Given the description of an element on the screen output the (x, y) to click on. 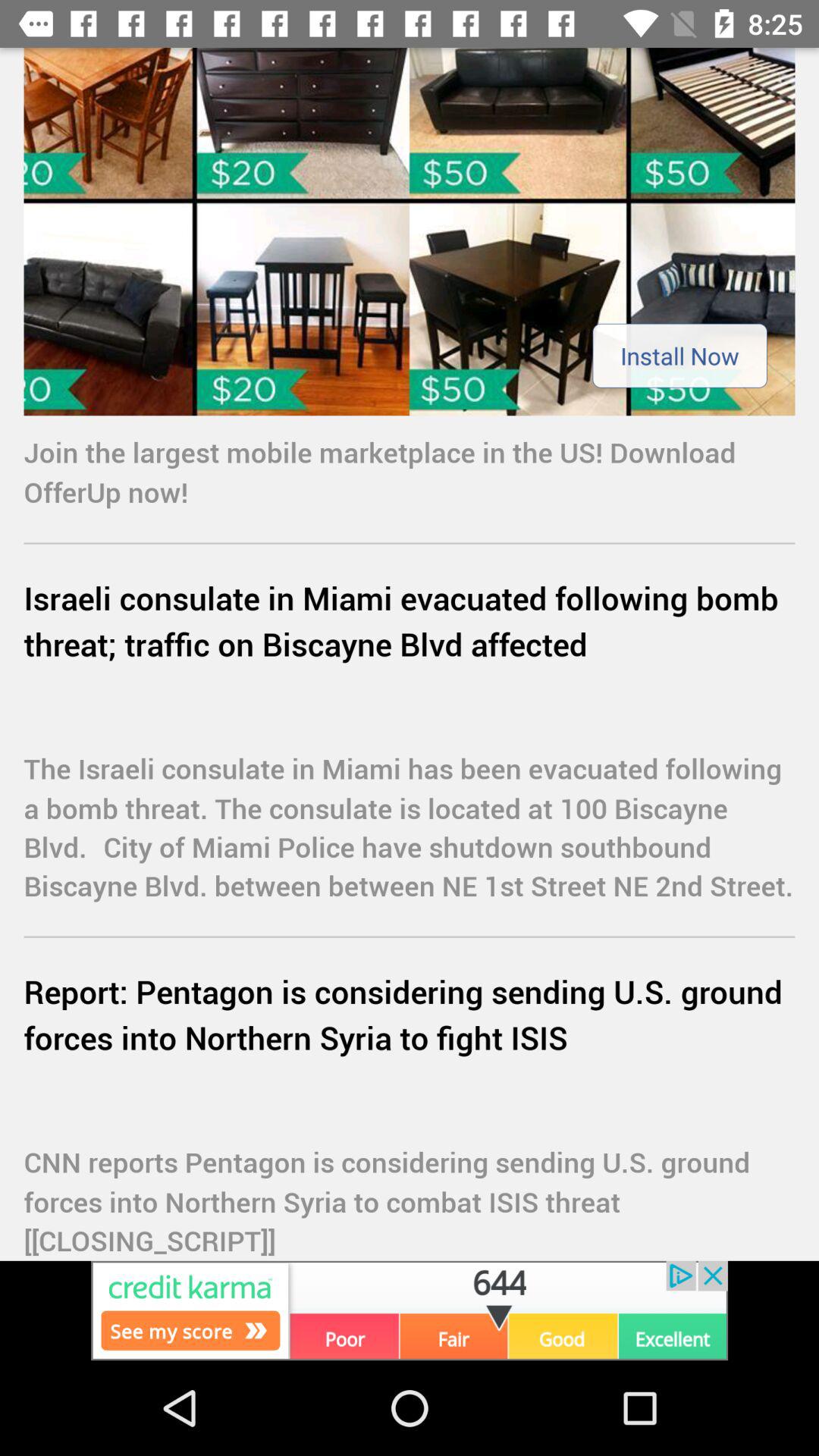
advatisment (409, 231)
